Given the description of an element on the screen output the (x, y) to click on. 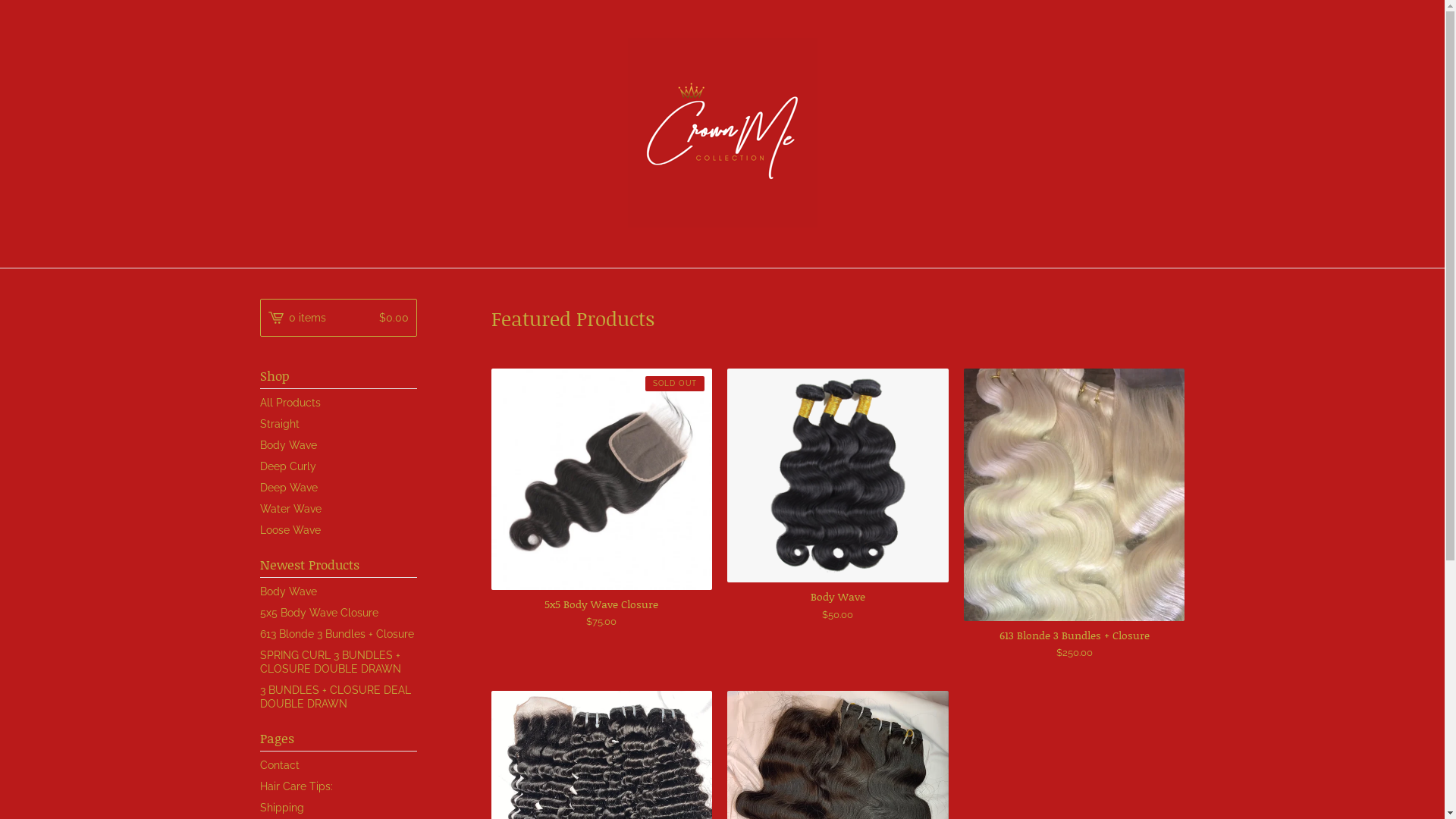
Shipping Element type: text (337, 807)
3 BUNDLES + CLOSURE DEAL DOUBLE DRAWN Element type: text (337, 696)
5x5 Body Wave Closure Element type: text (337, 612)
Hair Care Tips: Element type: text (337, 786)
Water Wave Element type: text (337, 508)
5x5 Body Wave Closure
$75.00
SOLD OUT Element type: text (601, 498)
613 Blonde 3 Bundles + Closure
$250.00 Element type: text (1074, 514)
SPRING CURL 3 BUNDLES + CLOSURE DOUBLE DRAWN Element type: text (337, 661)
Loose Wave Element type: text (337, 529)
Deep Wave Element type: text (337, 487)
Deep Curly Element type: text (337, 465)
613 Blonde 3 Bundles + Closure Element type: text (337, 633)
crownmecollections Element type: hover (722, 132)
0 items
$0.00 Element type: text (337, 317)
Body Wave Element type: text (337, 591)
Contact Element type: text (337, 764)
Body Wave Element type: text (337, 444)
All Products Element type: text (337, 402)
Body Wave
$50.00 Element type: text (837, 494)
Straight Element type: text (337, 423)
